Given the description of an element on the screen output the (x, y) to click on. 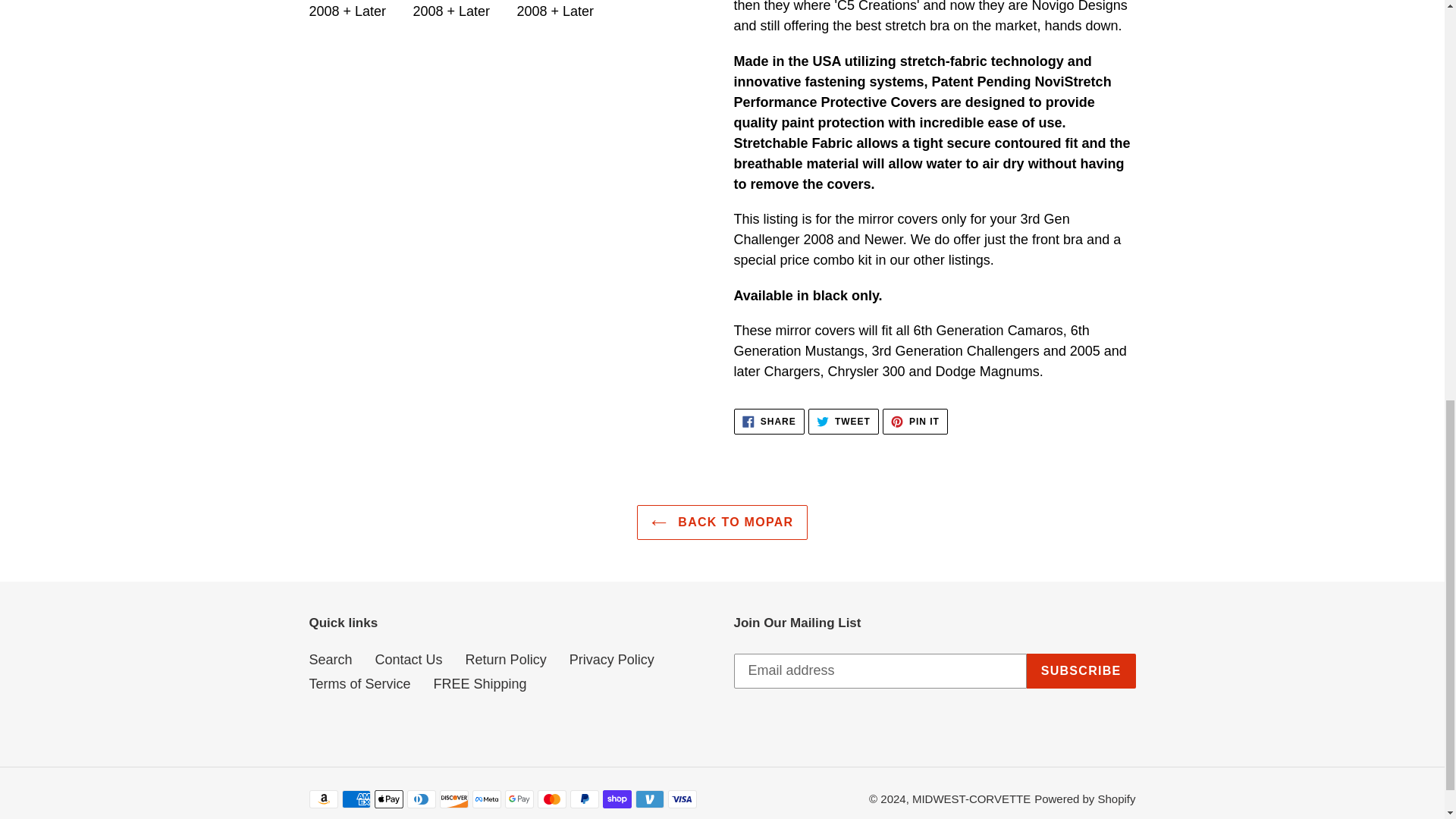
Terms of Service (359, 683)
Return Policy (914, 421)
Privacy Policy (506, 659)
BACK TO MOPAR (843, 421)
Search (611, 659)
Contact Us (722, 522)
